Given the description of an element on the screen output the (x, y) to click on. 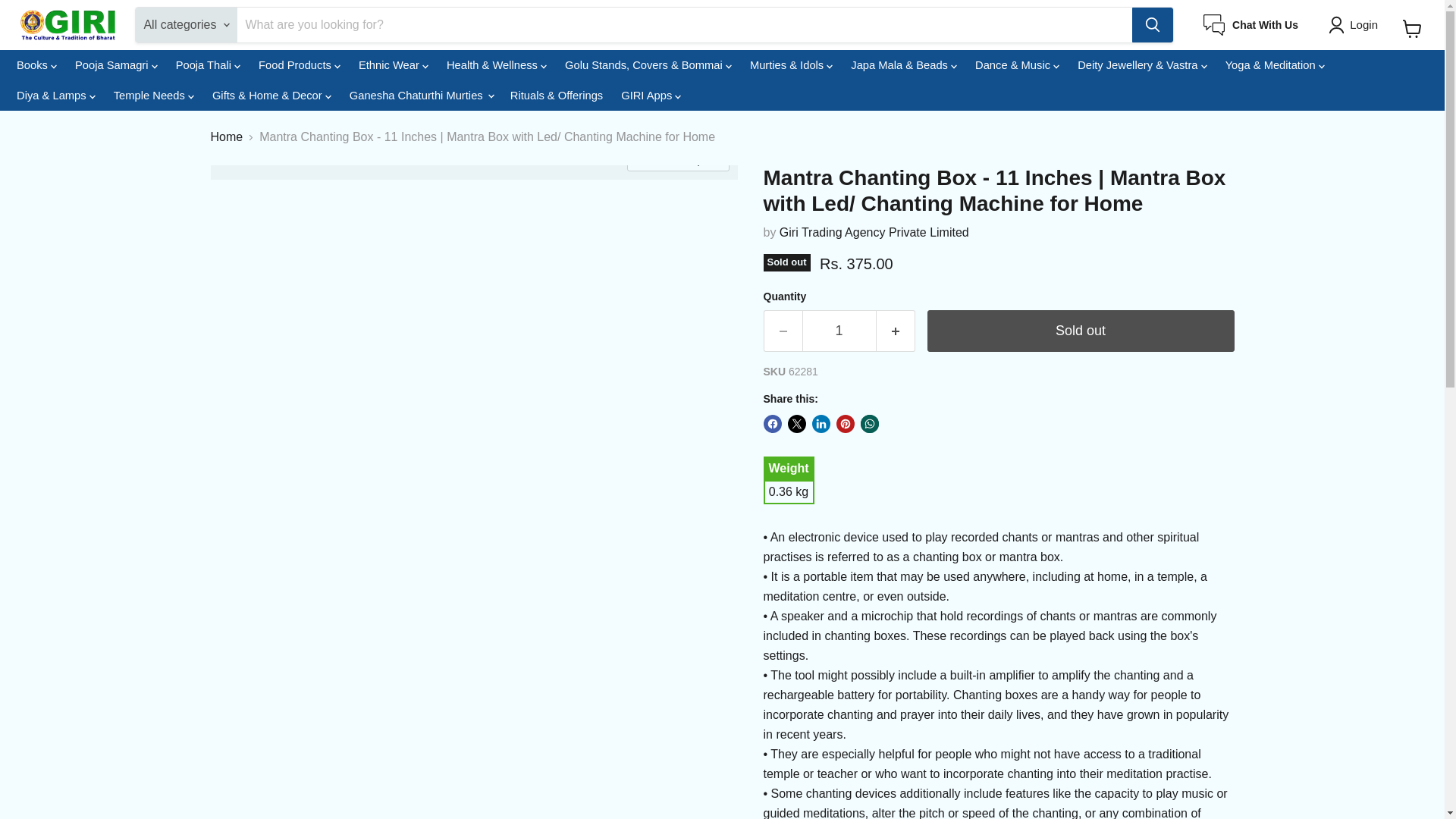
View cart (1411, 28)
Chat With Us (1251, 25)
Login (1355, 24)
1 (839, 331)
Giri Trading Agency Private Limited (873, 232)
